Given the description of an element on the screen output the (x, y) to click on. 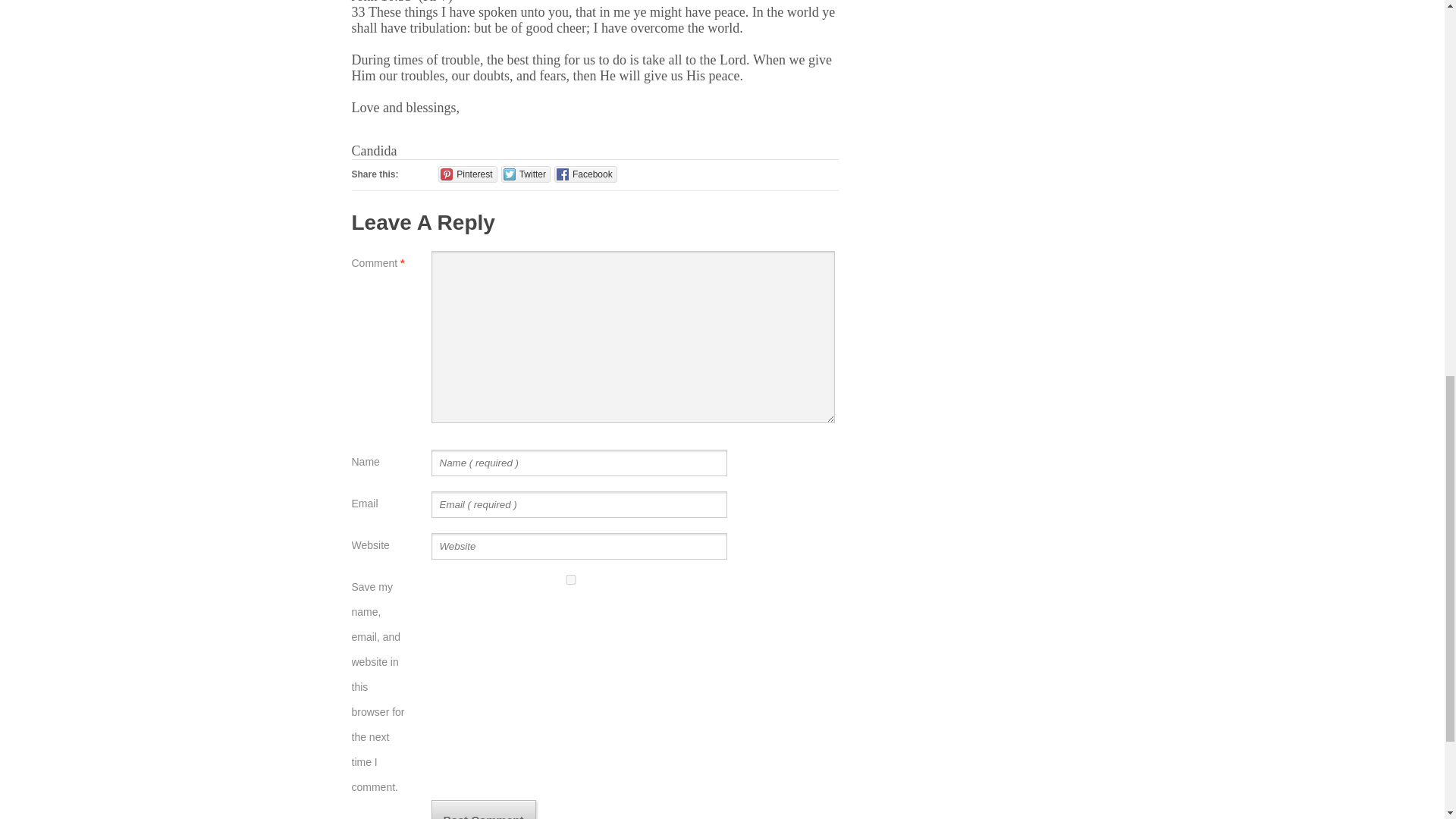
Post Comment (482, 809)
Click to share on Twitter (525, 174)
Facebook (585, 174)
Pinterest (467, 174)
yes (570, 579)
Post Comment (482, 809)
Click to share on Pinterest (467, 174)
Share on Facebook (585, 174)
Twitter (525, 174)
